Given the description of an element on the screen output the (x, y) to click on. 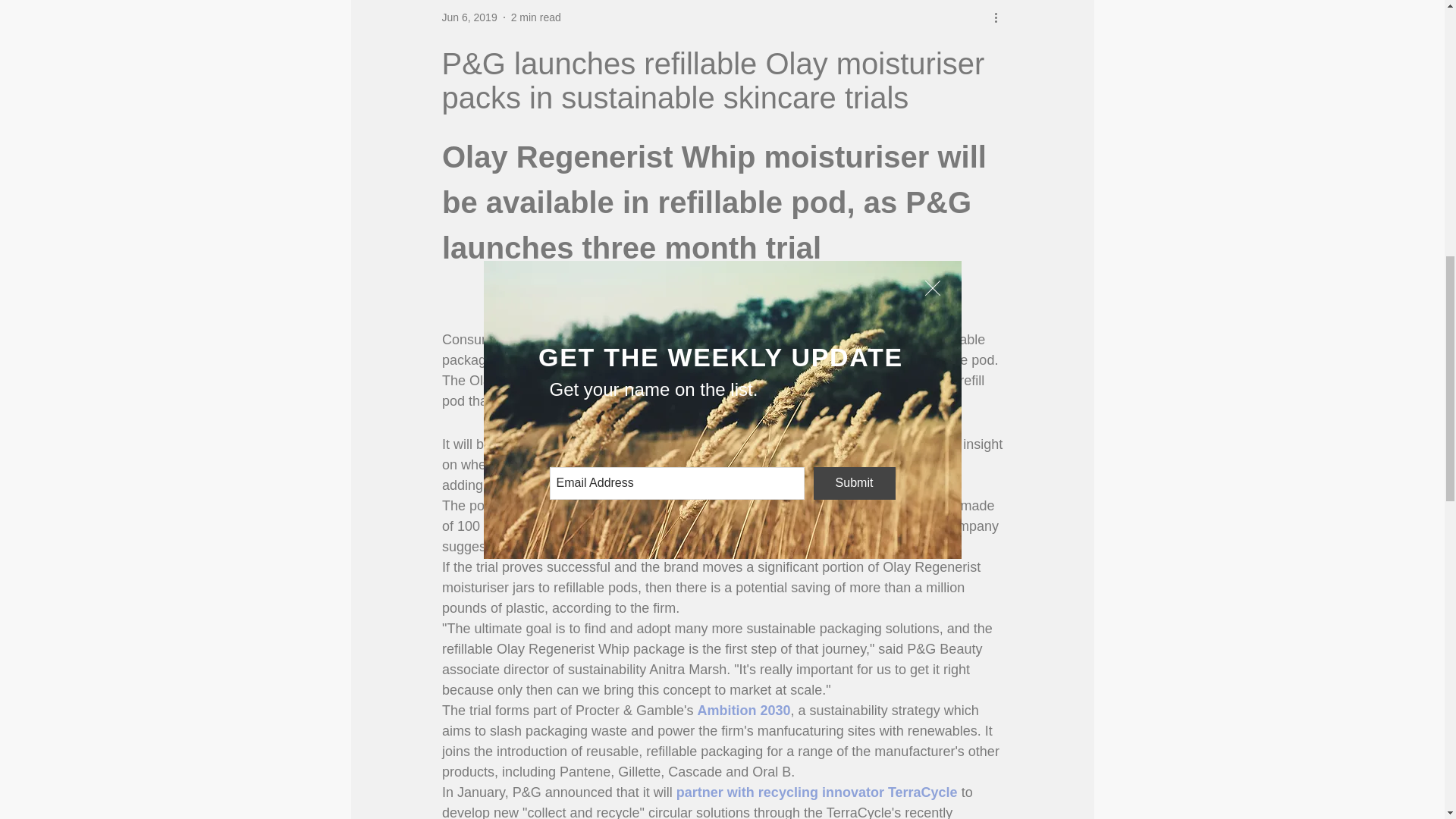
Jun 6, 2019 (468, 16)
Ambition 2030 (743, 710)
2 min read (535, 16)
partner with recycling innovator TerraCycle (815, 792)
